Given the description of an element on the screen output the (x, y) to click on. 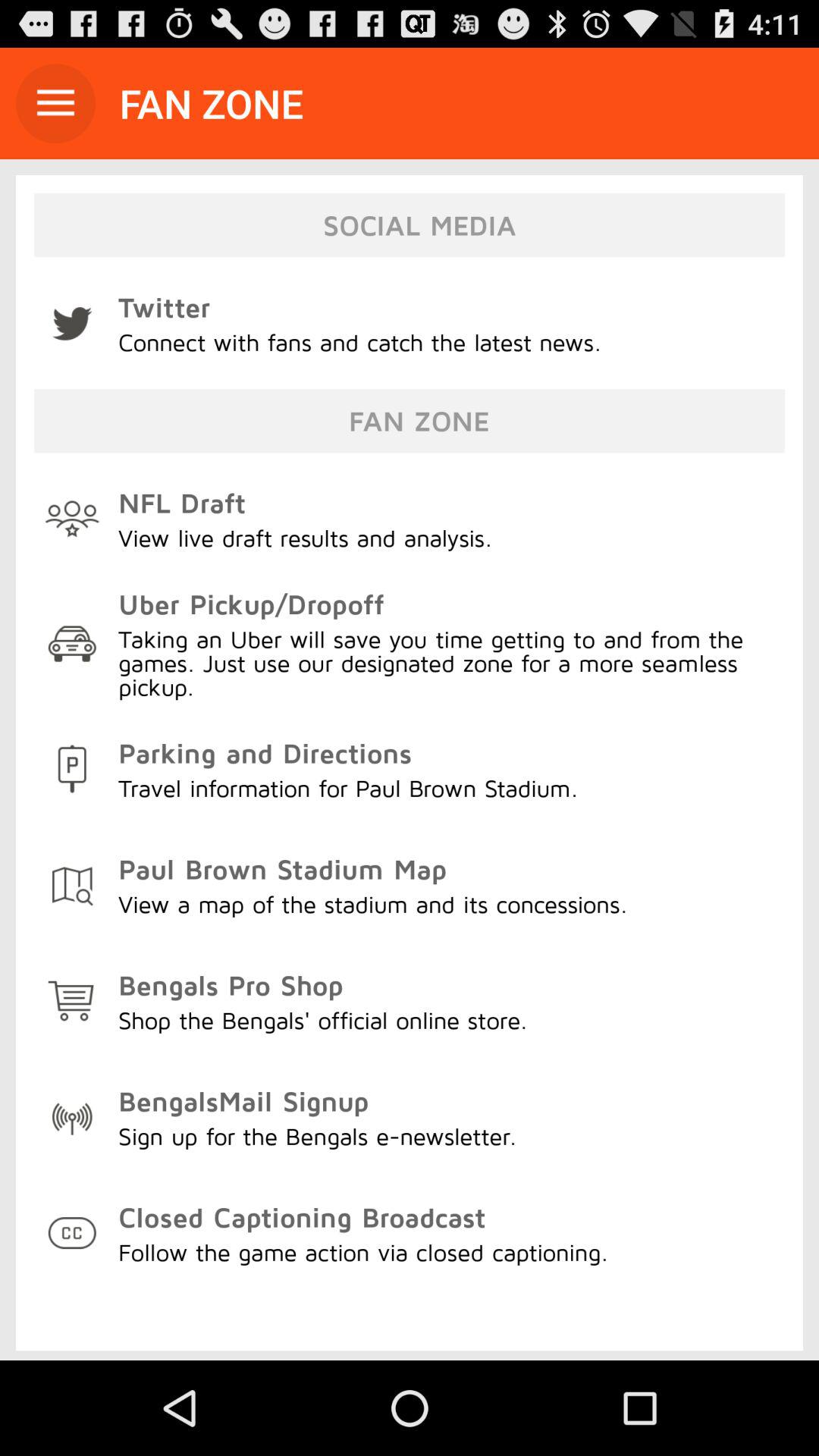
tap item to the left of the fan zone (55, 103)
